Given the description of an element on the screen output the (x, y) to click on. 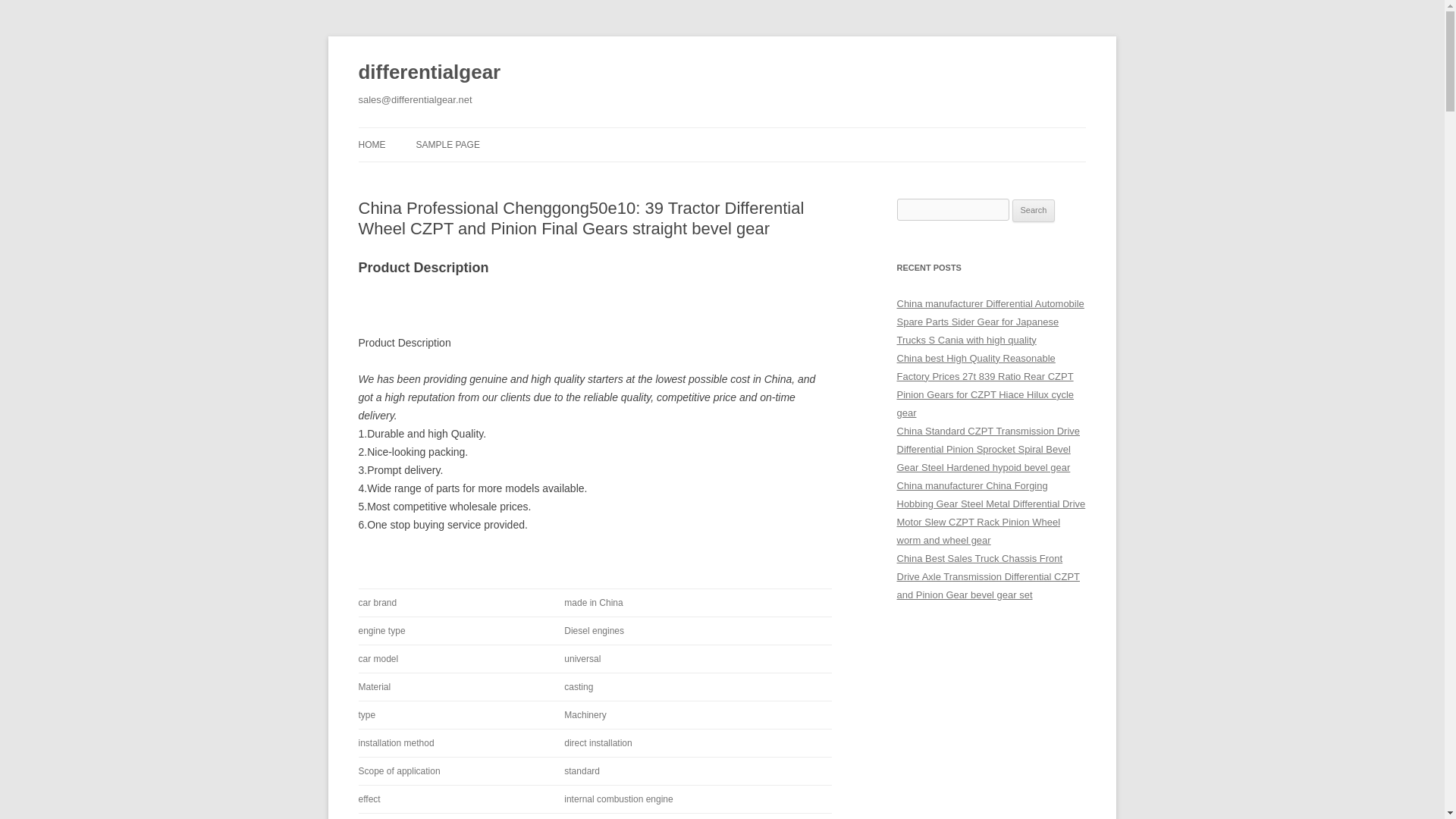
Search (1033, 210)
Search (1033, 210)
SAMPLE PAGE (446, 144)
differentialgear (429, 72)
